Given the description of an element on the screen output the (x, y) to click on. 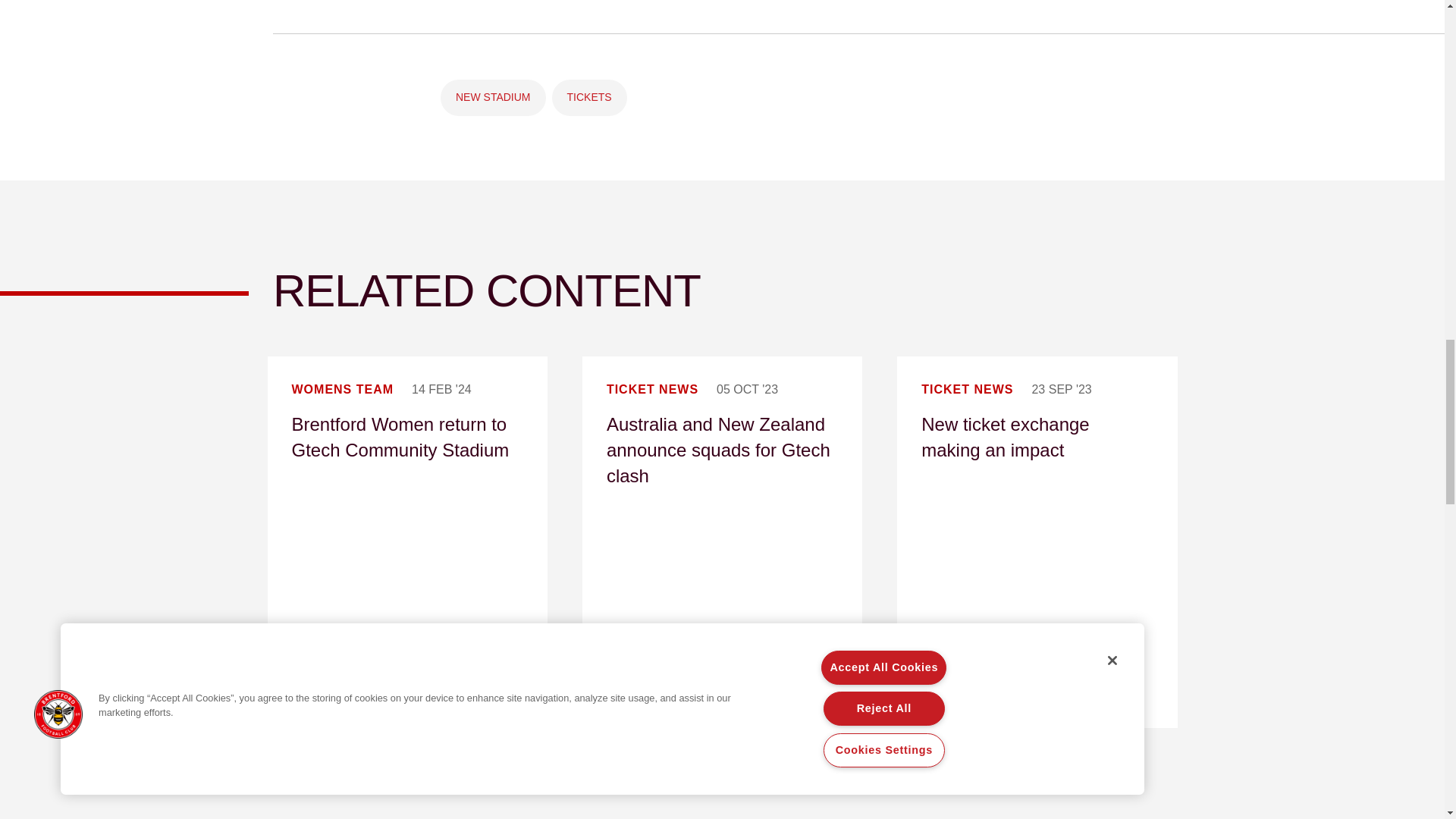
New Stadium (493, 97)
Tickets (589, 97)
